Given the description of an element on the screen output the (x, y) to click on. 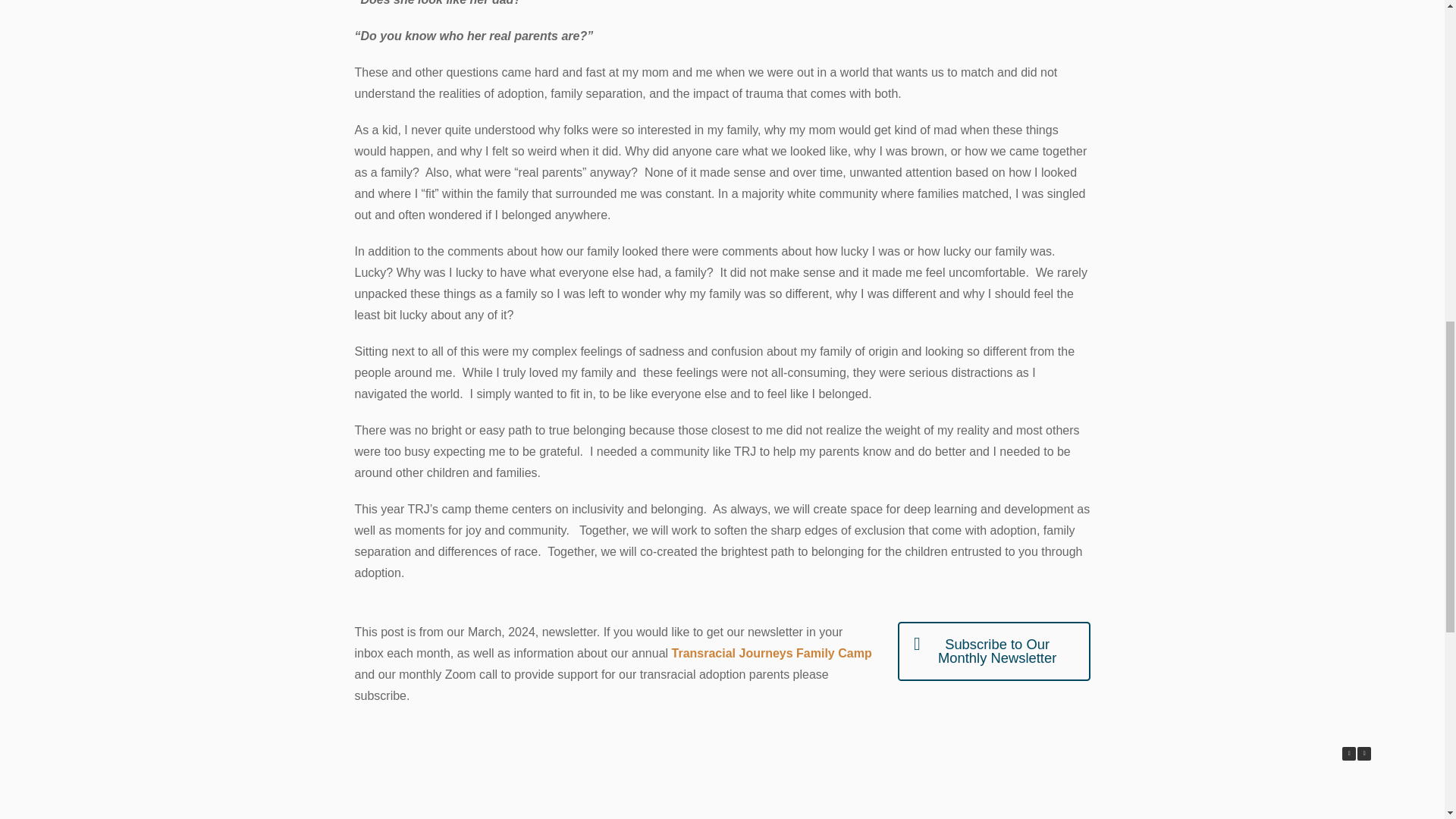
Next (1363, 753)
Previous (1348, 753)
Transracial Journeys Family Camp (771, 653)
Subscribe to Our Monthly Newsletter (993, 650)
